Given the description of an element on the screen output the (x, y) to click on. 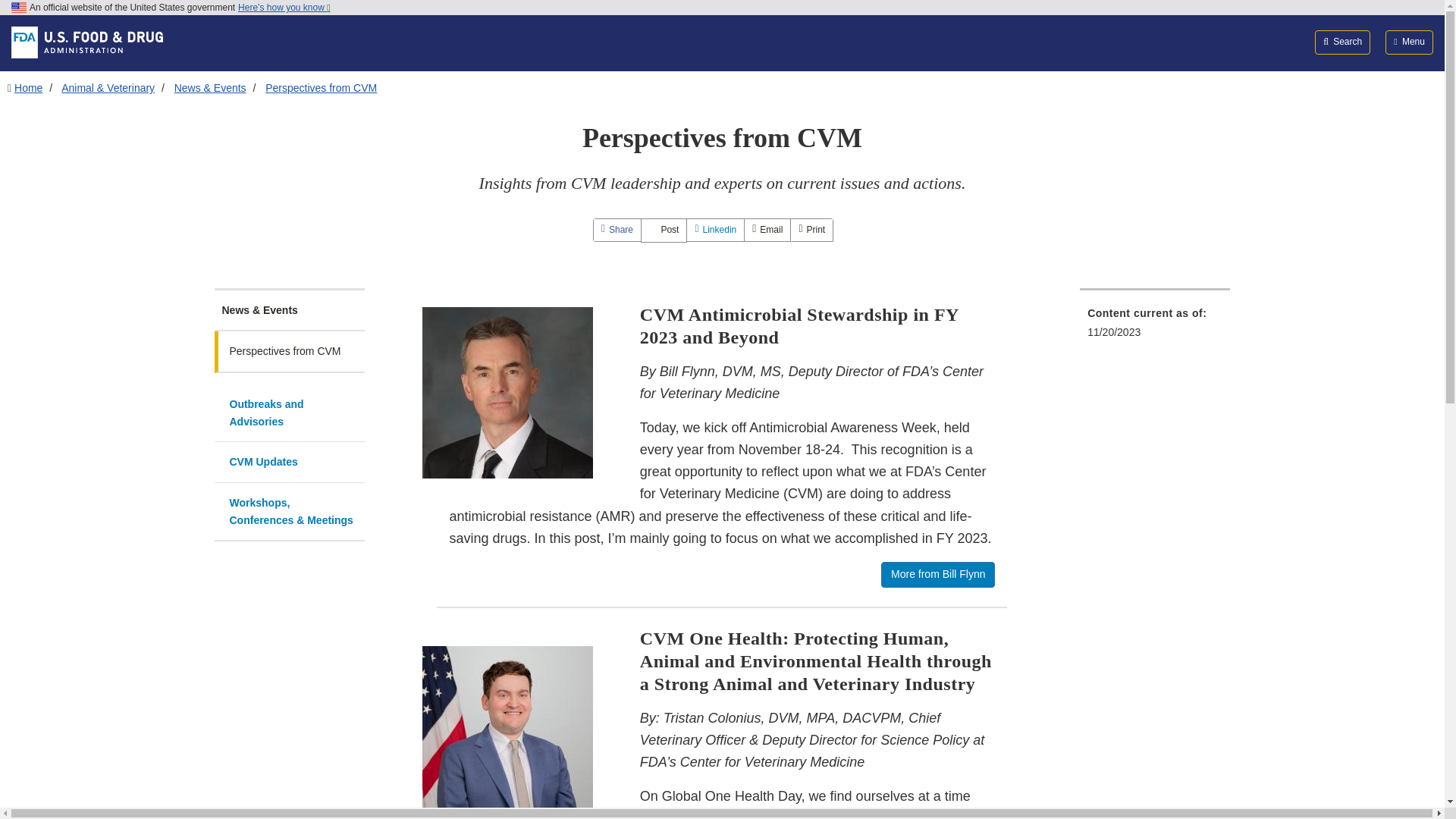
  Search (1342, 42)
Bill Flynn, DVM, MS (507, 392)
Print this page (811, 229)
Bill Flynn, DVM, MS (507, 392)
  Menu (1409, 42)
Tristan Colonius (507, 731)
Tristan Colonius (507, 731)
